Given the description of an element on the screen output the (x, y) to click on. 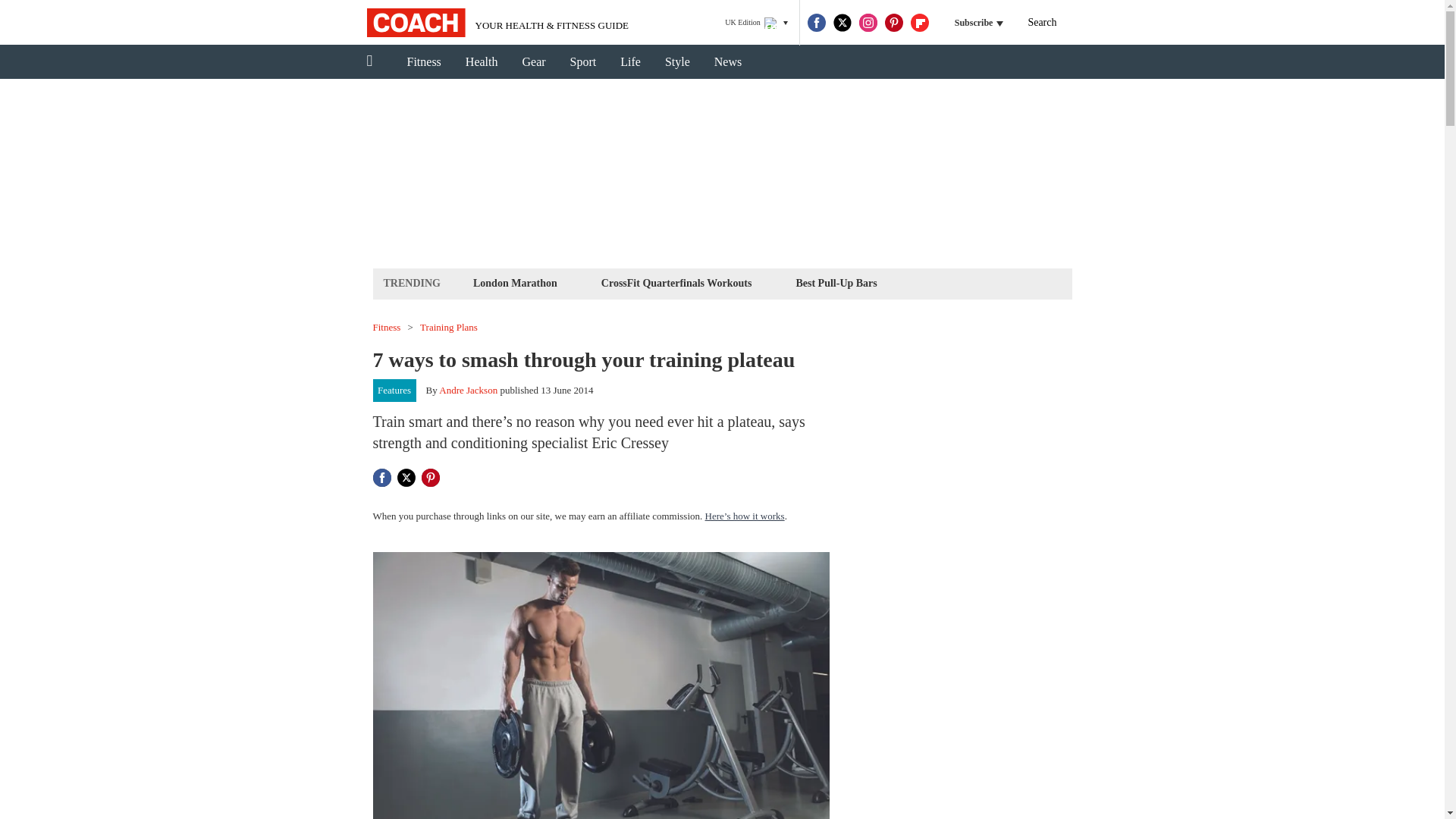
CrossFit Quarterfinals Workouts (676, 282)
Health (481, 61)
Best Pull-Up Bars (836, 282)
Style (676, 61)
Training Plans (448, 327)
UK Edition (755, 22)
London Marathon (514, 282)
Features (394, 390)
Life (630, 61)
Sport (582, 61)
